Given the description of an element on the screen output the (x, y) to click on. 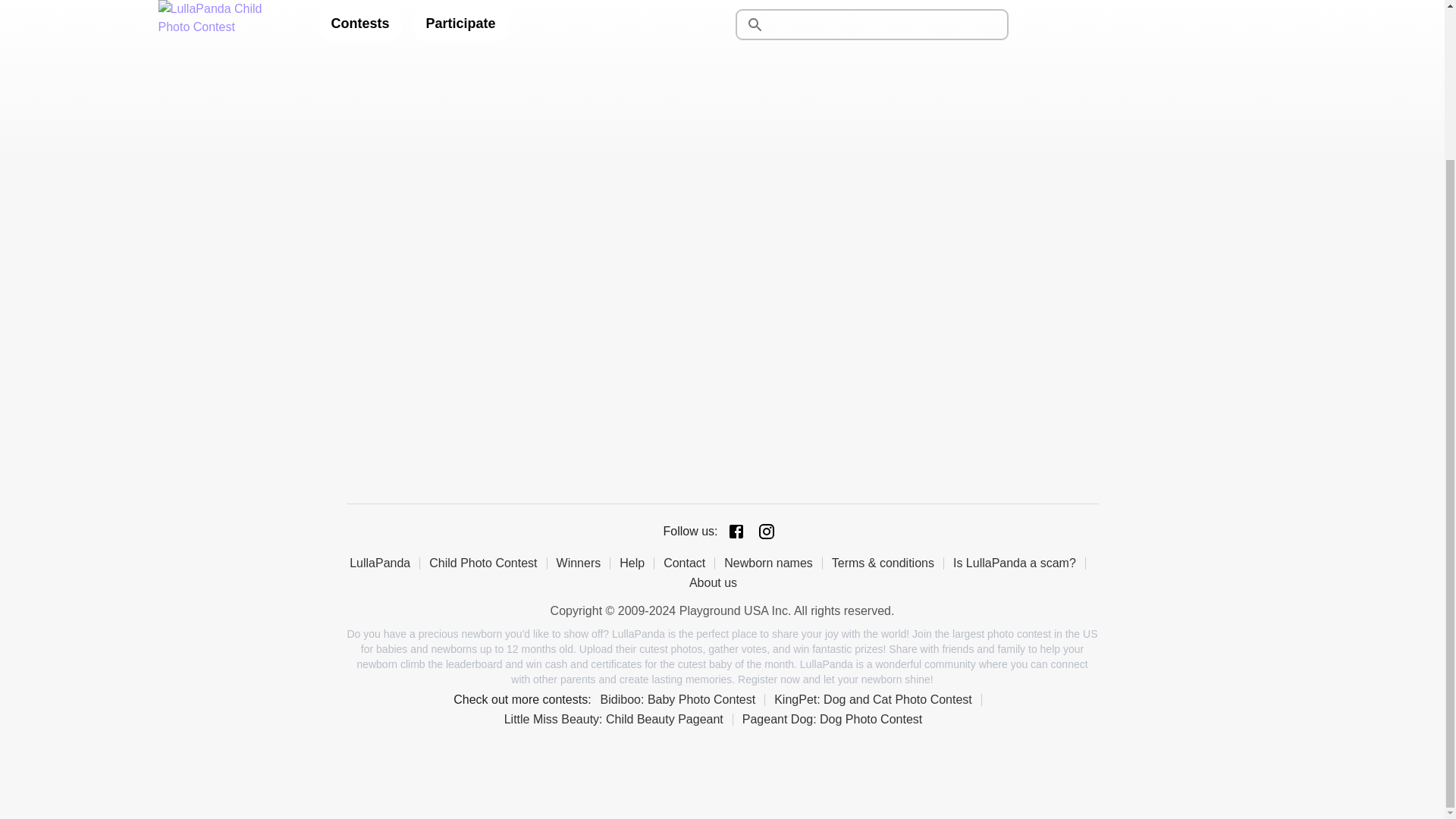
Bidiboo: Baby Photo Contest (682, 699)
Child Photo Contest (488, 563)
KingPet: Dog and Cat Photo Contest (877, 699)
Pageant Dog: Dog Photo Contest (836, 719)
Is LullaPanda a scam? (1019, 563)
Little Miss Beauty: Child Beauty Pageant (618, 719)
About us (716, 582)
Winners (583, 563)
Help (636, 563)
LullaPanda (384, 563)
Contact (688, 563)
Newborn names (772, 563)
